Given the description of an element on the screen output the (x, y) to click on. 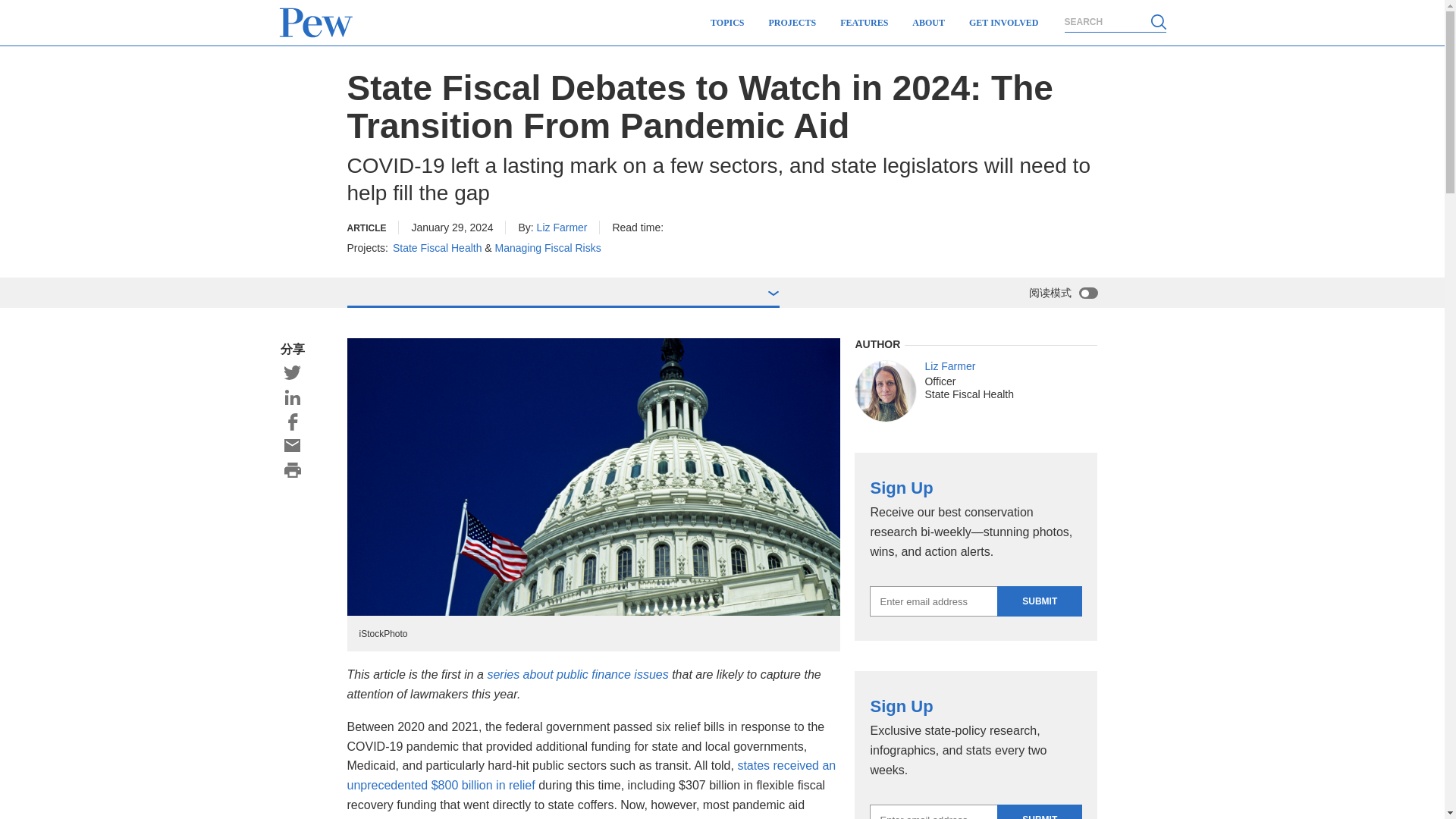
Submit (1039, 601)
Submit (1039, 811)
TOPICS (726, 22)
Liz Farmer (885, 391)
PROJECTS (792, 22)
